Given the description of an element on the screen output the (x, y) to click on. 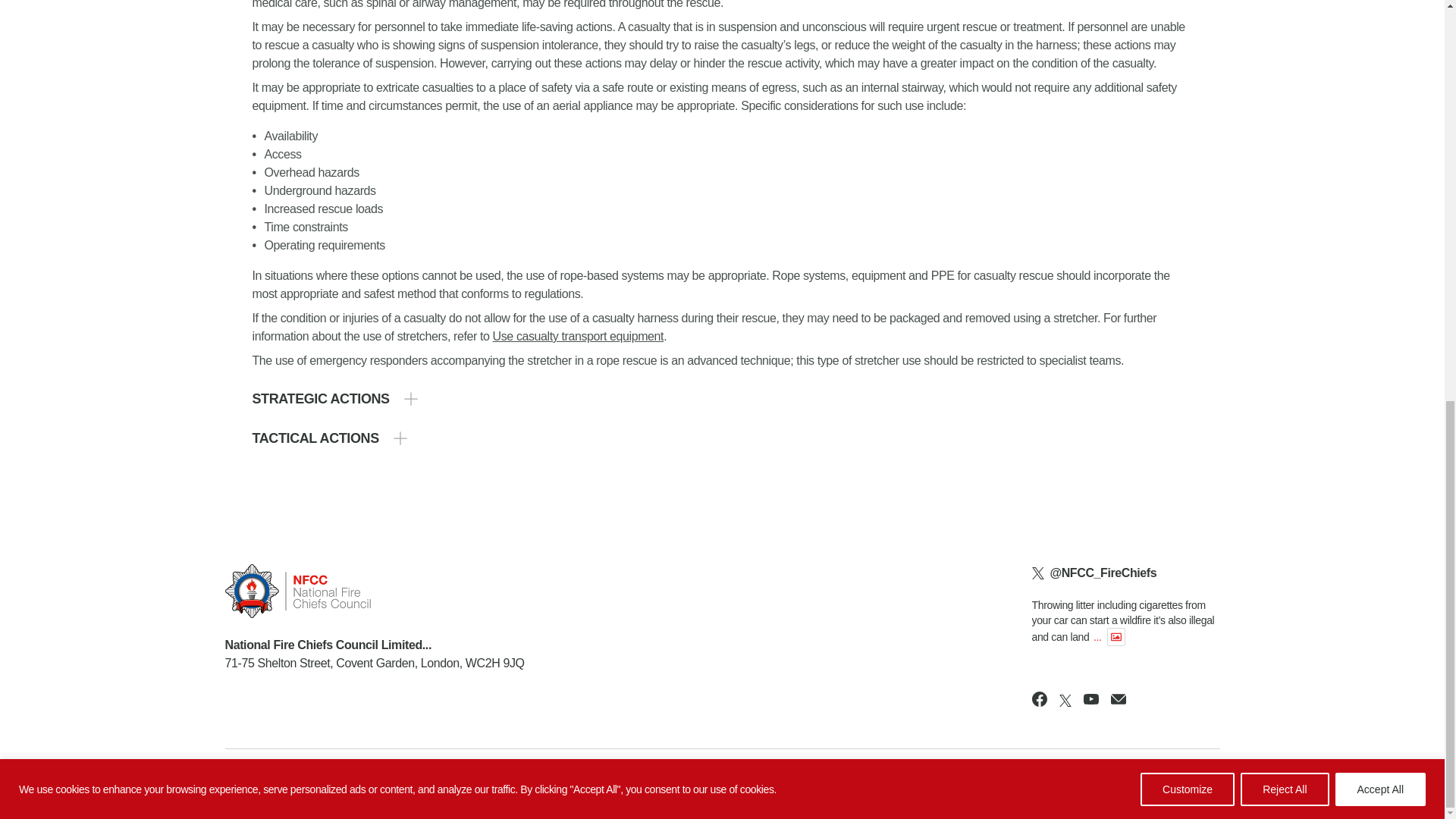
Use casualty transport equipment - SRC (578, 336)
Clicking NFCC logo sends you to the home page (374, 591)
NFCC Facebook (1038, 698)
Customize (1187, 9)
NFCC Twitter (1065, 700)
NFCC Email (1117, 698)
Reject All (1283, 9)
Accept All (1380, 9)
NFCC Youtube (1091, 698)
